Given the description of an element on the screen output the (x, y) to click on. 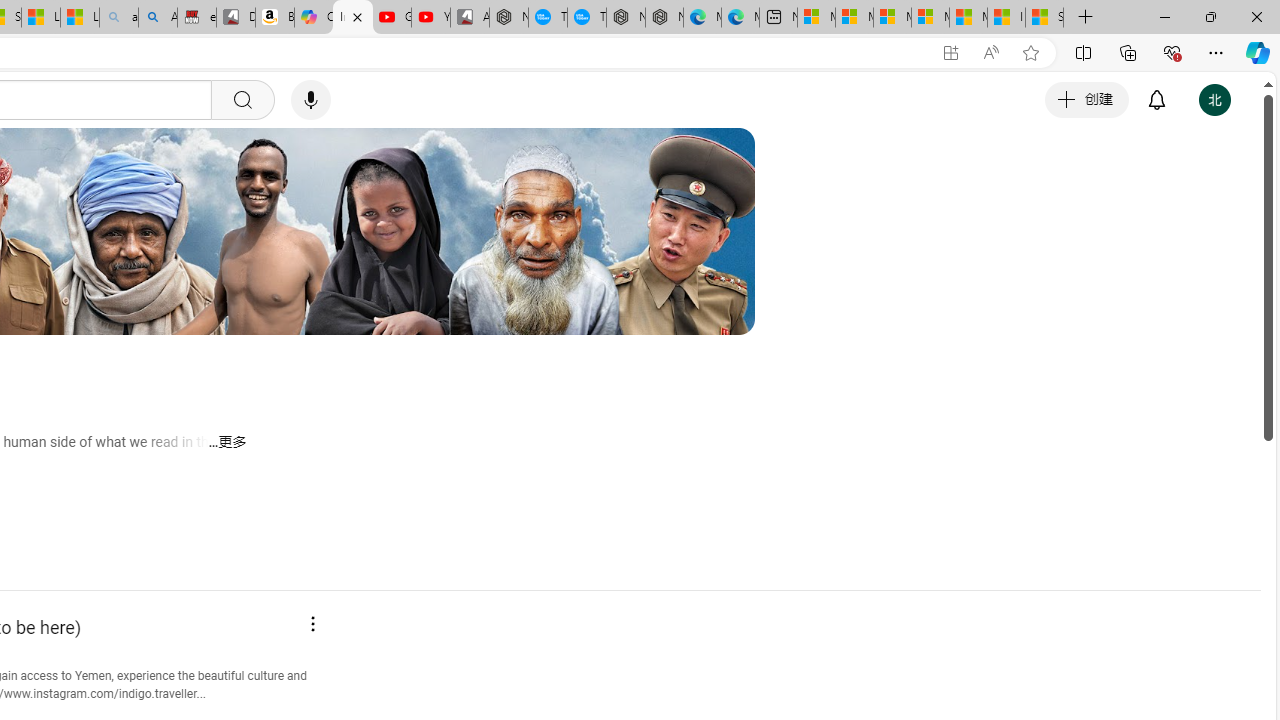
The most popular Google 'how to' searches (586, 17)
Nordace - Nordace has arrived Hong Kong (664, 17)
I Gained 20 Pounds of Muscle in 30 Days! | Watch (1006, 17)
YouTube Kids - An App Created for Kids to Explore Content (431, 17)
Gloom - YouTube (391, 17)
